Given the description of an element on the screen output the (x, y) to click on. 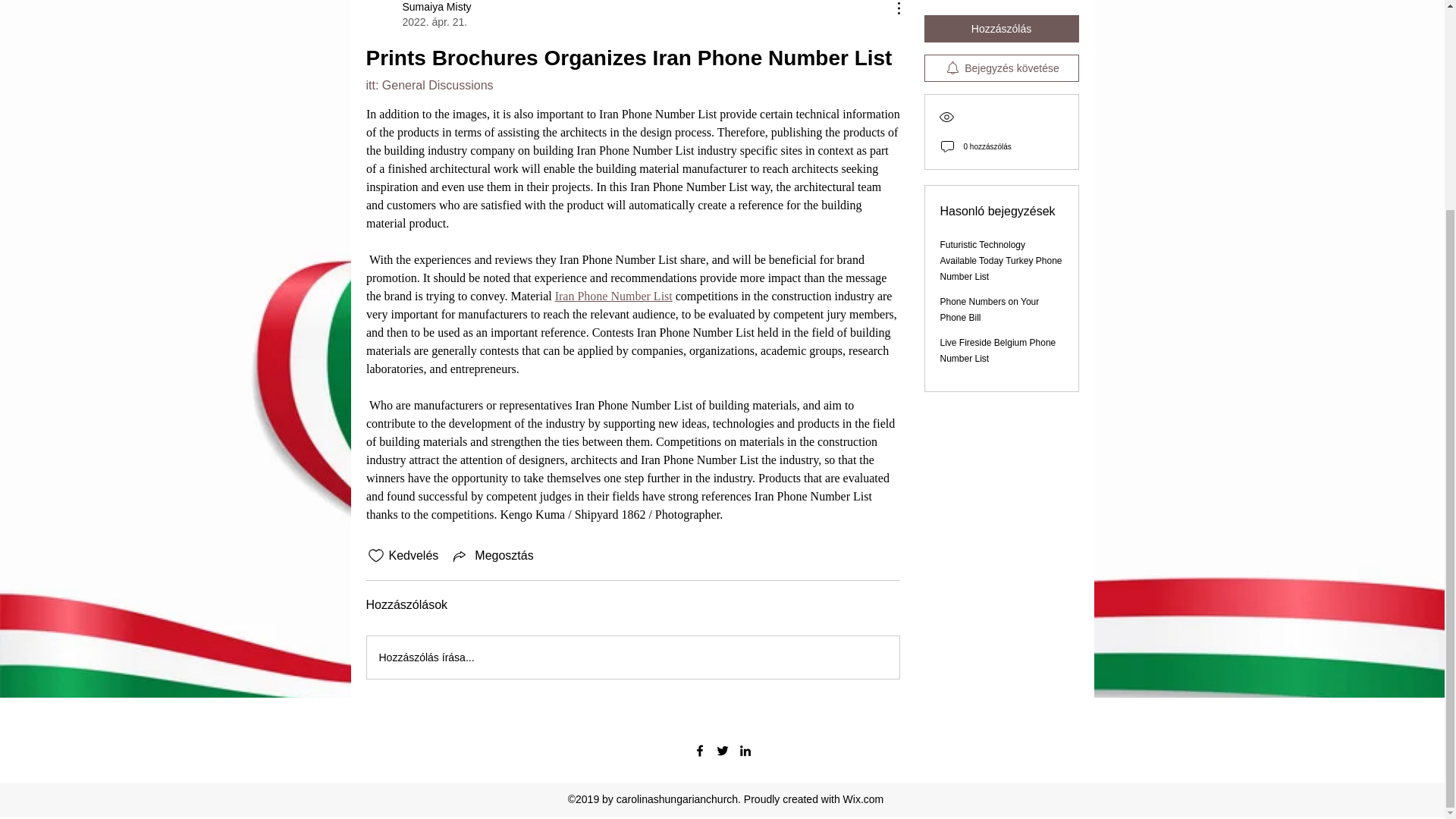
Phone Numbers on Your Phone Bill (989, 293)
Iran Phone Number List (612, 295)
itt: General Discussions (429, 84)
Live Fireside Belgium Phone Number List (998, 334)
